Given the description of an element on the screen output the (x, y) to click on. 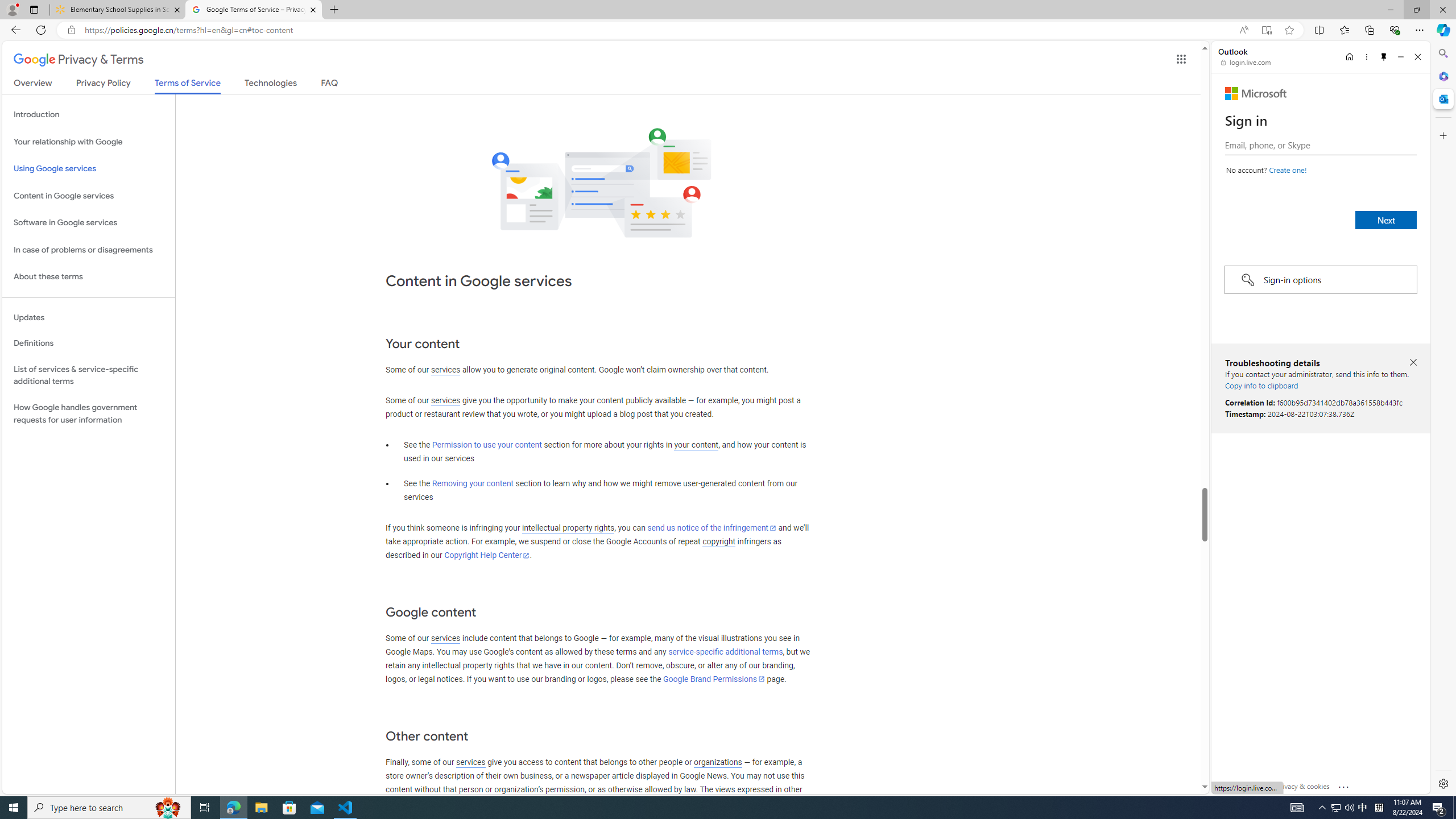
Close troubleshooting details (1412, 362)
More options (1366, 56)
Terms of use (1249, 785)
Close Outlook pane (1442, 98)
Privacy & cookies (1302, 785)
Home (1348, 56)
